Given the description of an element on the screen output the (x, y) to click on. 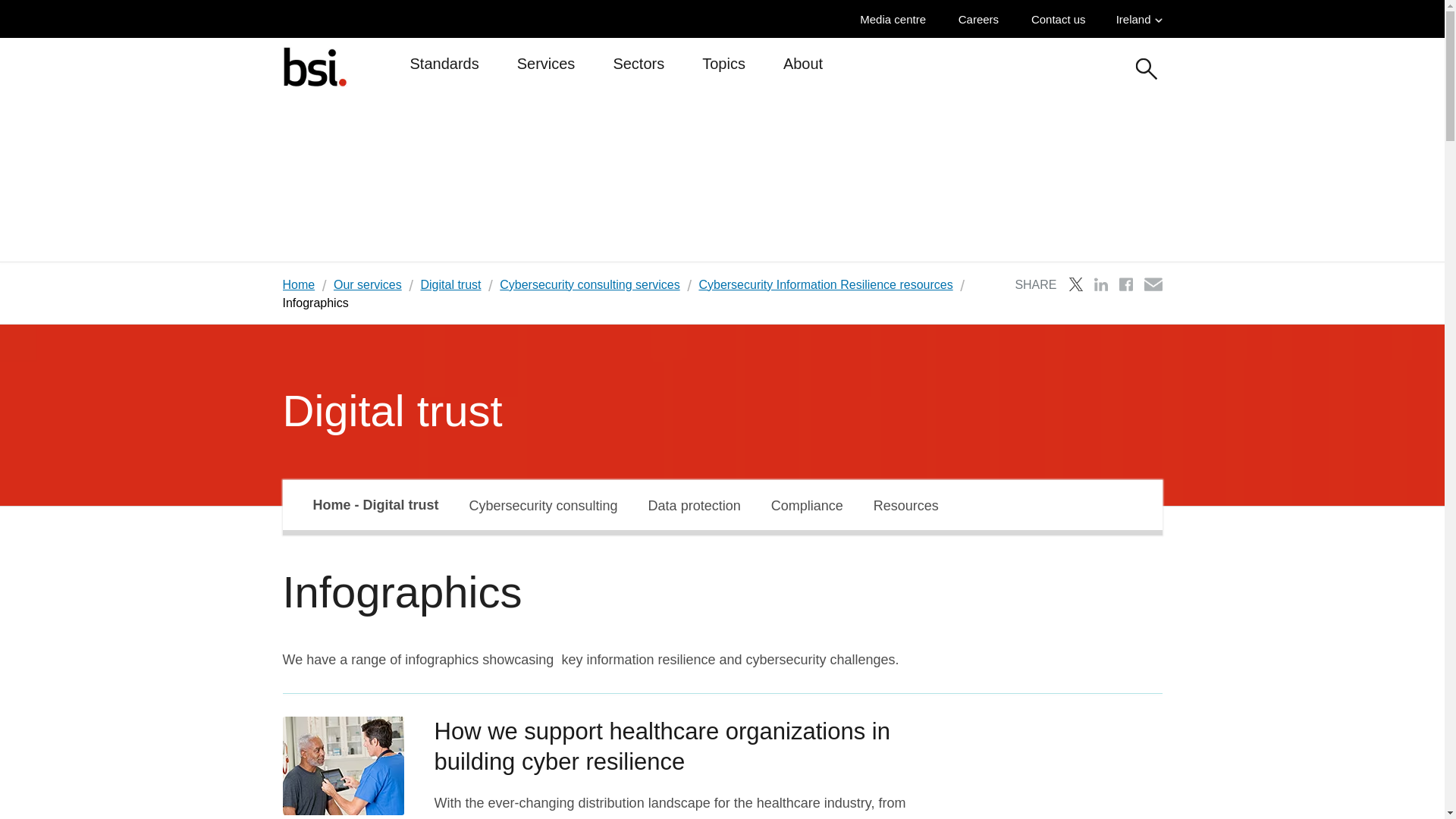
Media centre (896, 19)
Media centre (896, 19)
logo (314, 65)
Standards (444, 70)
Ireland (1138, 19)
Careers (982, 19)
Careers (982, 19)
Contact us (1061, 19)
Contact us (1061, 19)
